Given the description of an element on the screen output the (x, y) to click on. 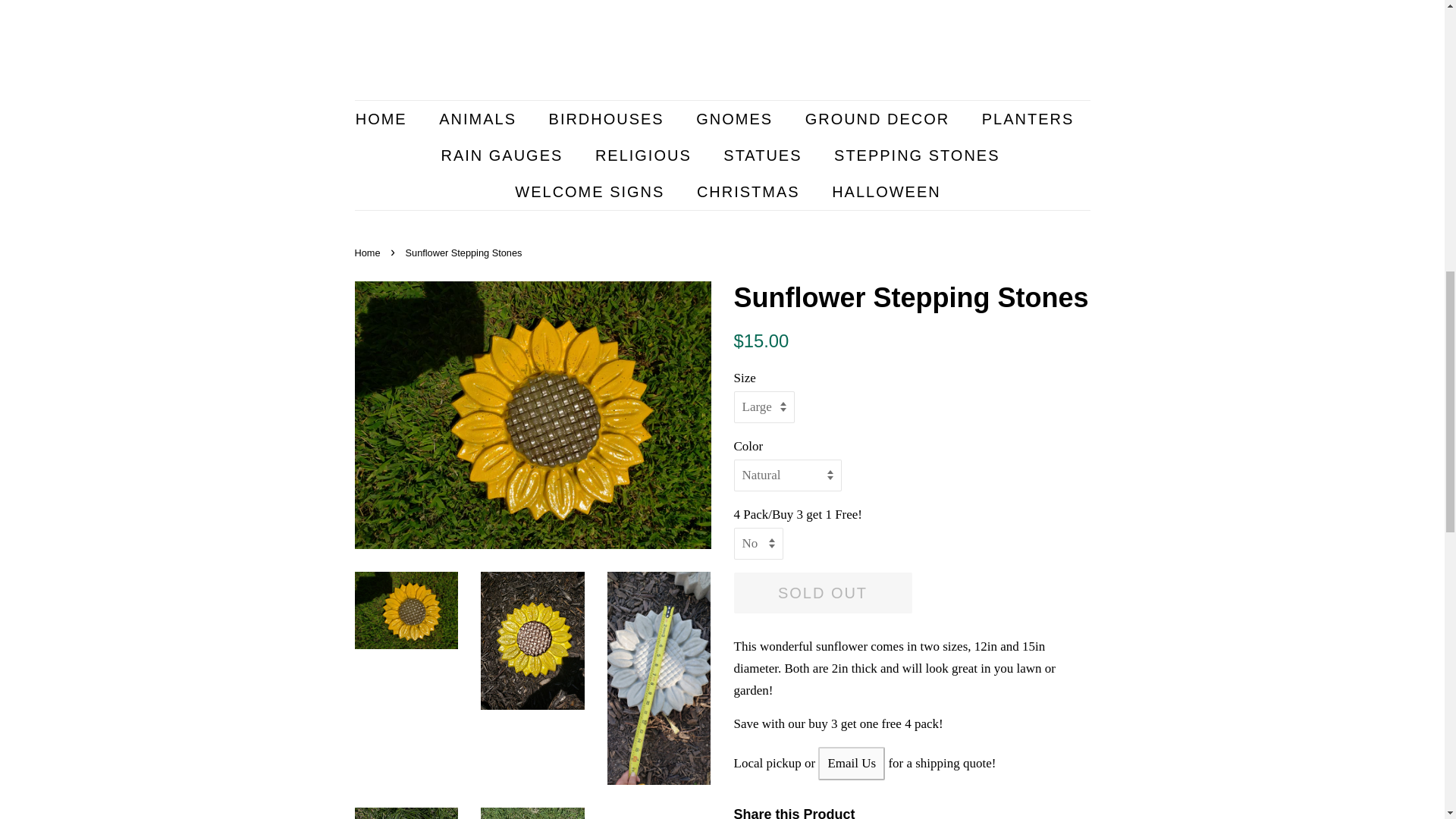
WELCOME SIGNS (591, 191)
BIRDHOUSES (608, 118)
RELIGIOUS (644, 155)
Home (369, 252)
Back to the frontpage (369, 252)
ANIMALS (479, 118)
RAIN GAUGES (503, 155)
STEPPING STONES (918, 155)
STATUES (763, 155)
Email Us (851, 763)
